Given the description of an element on the screen output the (x, y) to click on. 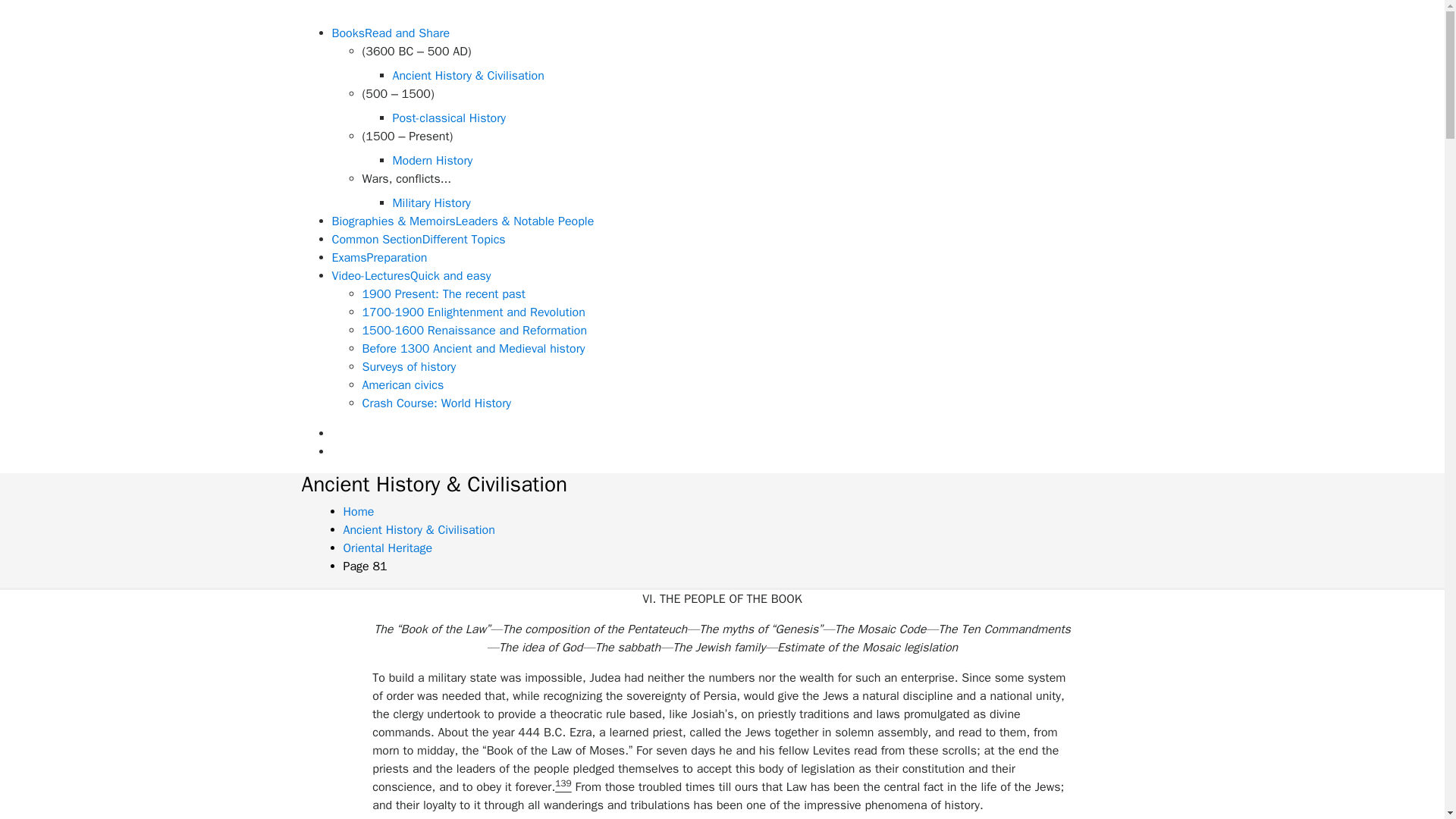
Modern History (433, 160)
Surveys of history (409, 366)
BooksRead and Share (390, 32)
Video-LecturesQuick and easy (411, 275)
Common SectionDifferent Topics (418, 239)
Crash Course: World History (437, 403)
1700-1900 Enlightenment and Revolution (473, 312)
1900 Present: The recent past (443, 294)
Military History (431, 202)
Post-classical History (449, 118)
Oriental Heritage (387, 548)
1500-1600 Renaissance and Reformation (475, 330)
Before 1300 Ancient and Medieval history (473, 348)
Home (358, 511)
ExamsPreparation (379, 257)
